Given the description of an element on the screen output the (x, y) to click on. 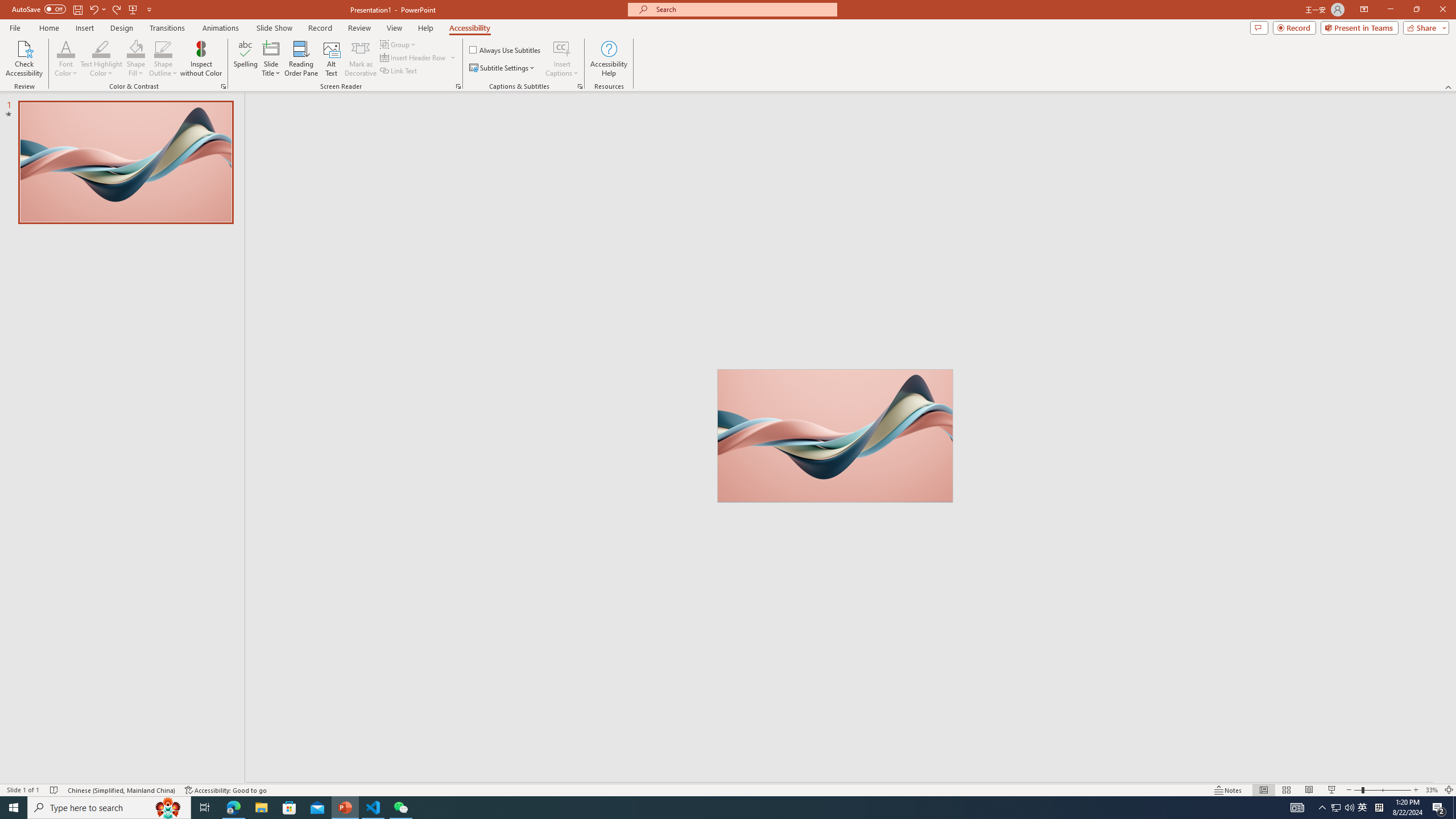
Captions & Subtitles (580, 85)
Group (398, 44)
Insert Captions (561, 58)
